Given the description of an element on the screen output the (x, y) to click on. 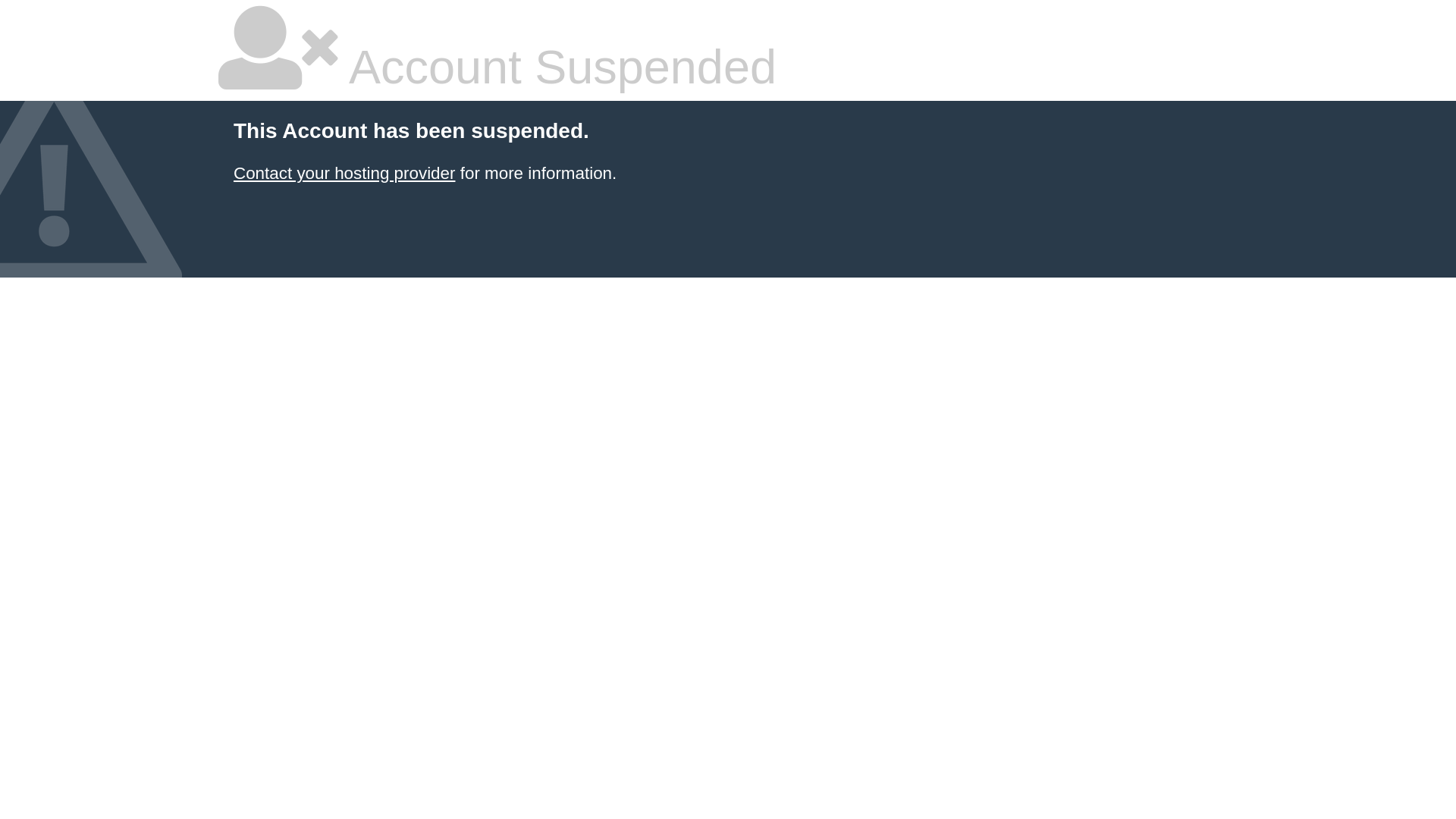
Contact your hosting provider Element type: text (344, 172)
